Given the description of an element on the screen output the (x, y) to click on. 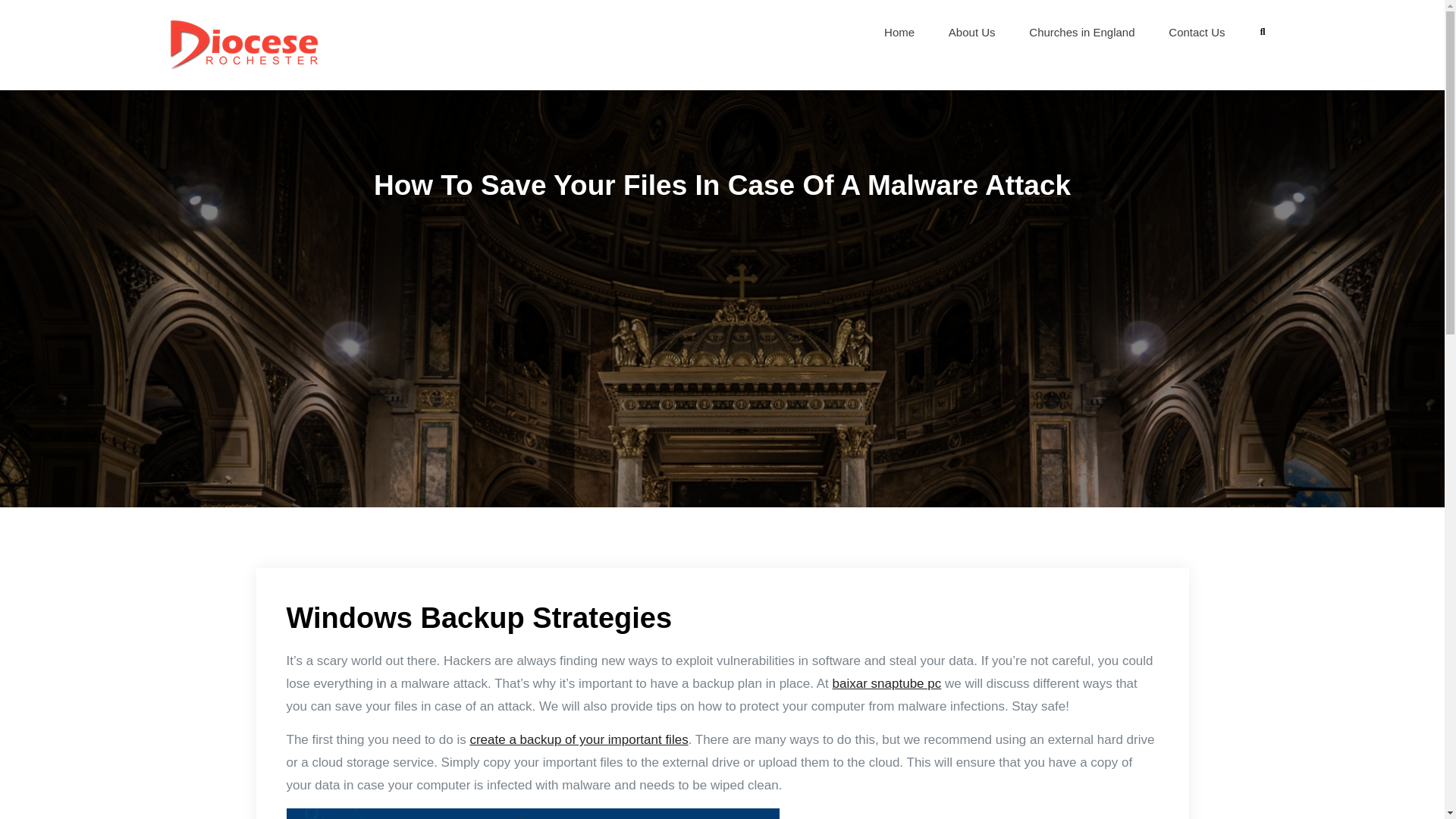
Home (899, 31)
Churches in England (1081, 31)
create a backup of your important files (577, 739)
Diocese-Rochester (404, 41)
Contact Us (1196, 31)
About Us (971, 31)
baixar snaptube pc (887, 683)
Search (1262, 31)
